Given the description of an element on the screen output the (x, y) to click on. 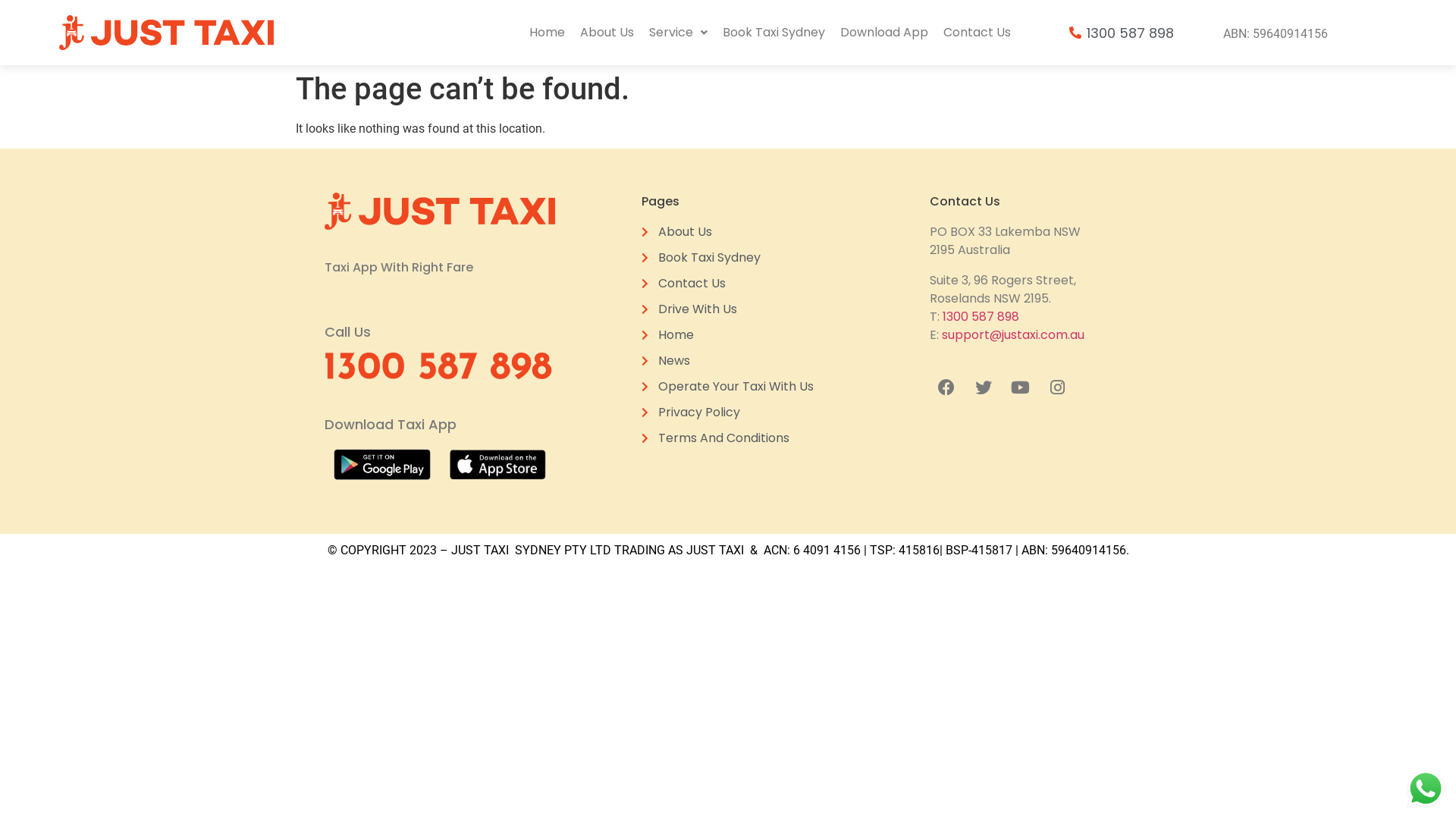
Service Element type: text (678, 32)
1300 587 898 Element type: text (1120, 32)
Drive With Us Element type: text (727, 309)
Terms And Conditions Element type: text (727, 438)
1300 587 898 Element type: text (980, 316)
Download App Element type: text (883, 32)
Privacy Policy Element type: text (727, 412)
Contact Us Element type: text (976, 32)
Book Taxi Sydney Element type: text (773, 32)
Operate Your Taxi With Us Element type: text (727, 386)
About Us Element type: text (727, 231)
About Us Element type: text (606, 32)
Book Taxi Sydney Element type: text (727, 257)
Home Element type: text (546, 32)
Contact Us Element type: text (727, 283)
WhatsApp us Element type: hover (1425, 788)
Home Element type: text (727, 335)
News Element type: text (727, 360)
support@justaxi.com.au Element type: text (1012, 334)
